Given the description of an element on the screen output the (x, y) to click on. 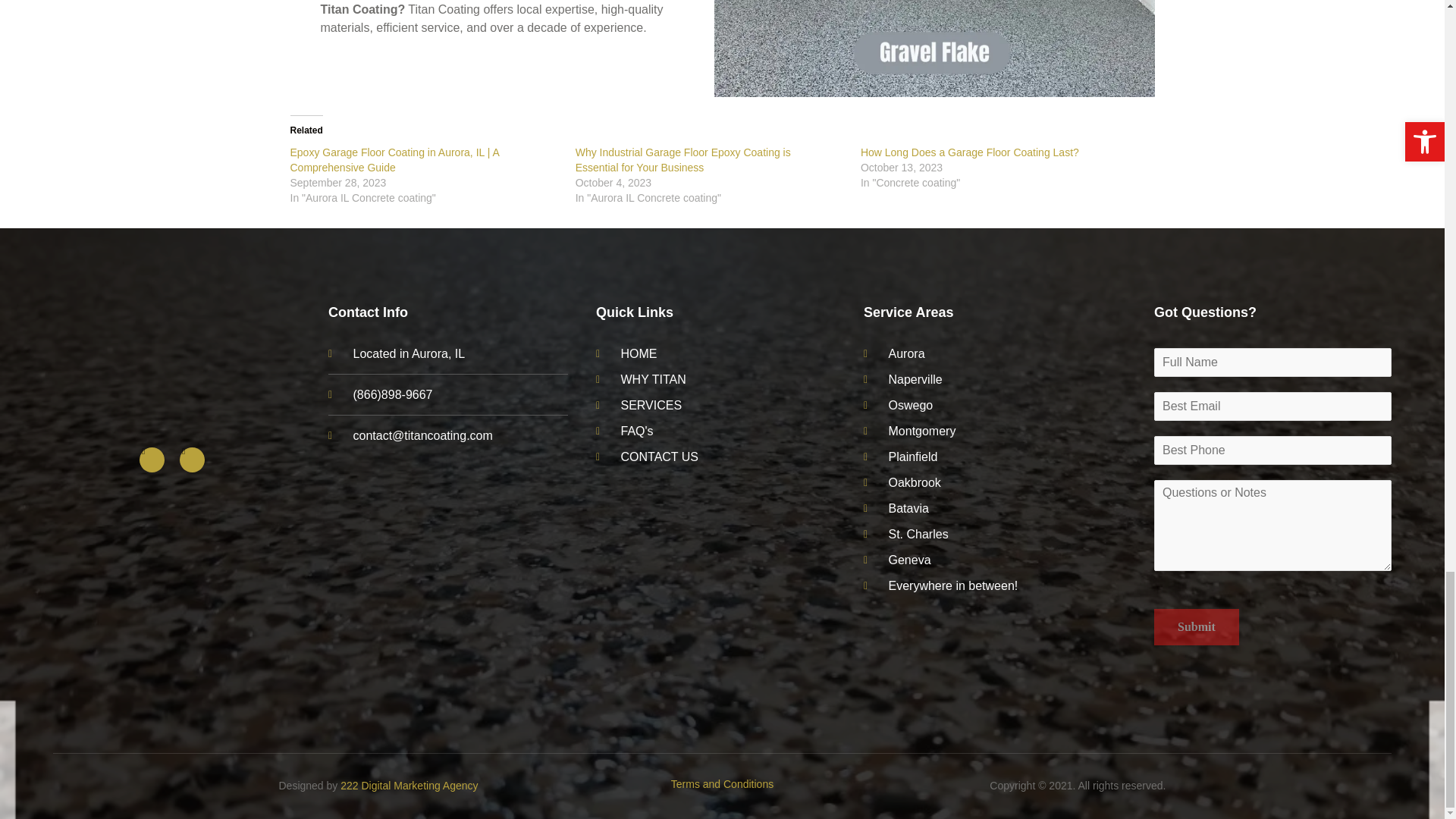
How Long Does a Garage Floor Coating Last? (969, 152)
How Long Does a Garage Floor Coating Last? (969, 152)
